Given the description of an element on the screen output the (x, y) to click on. 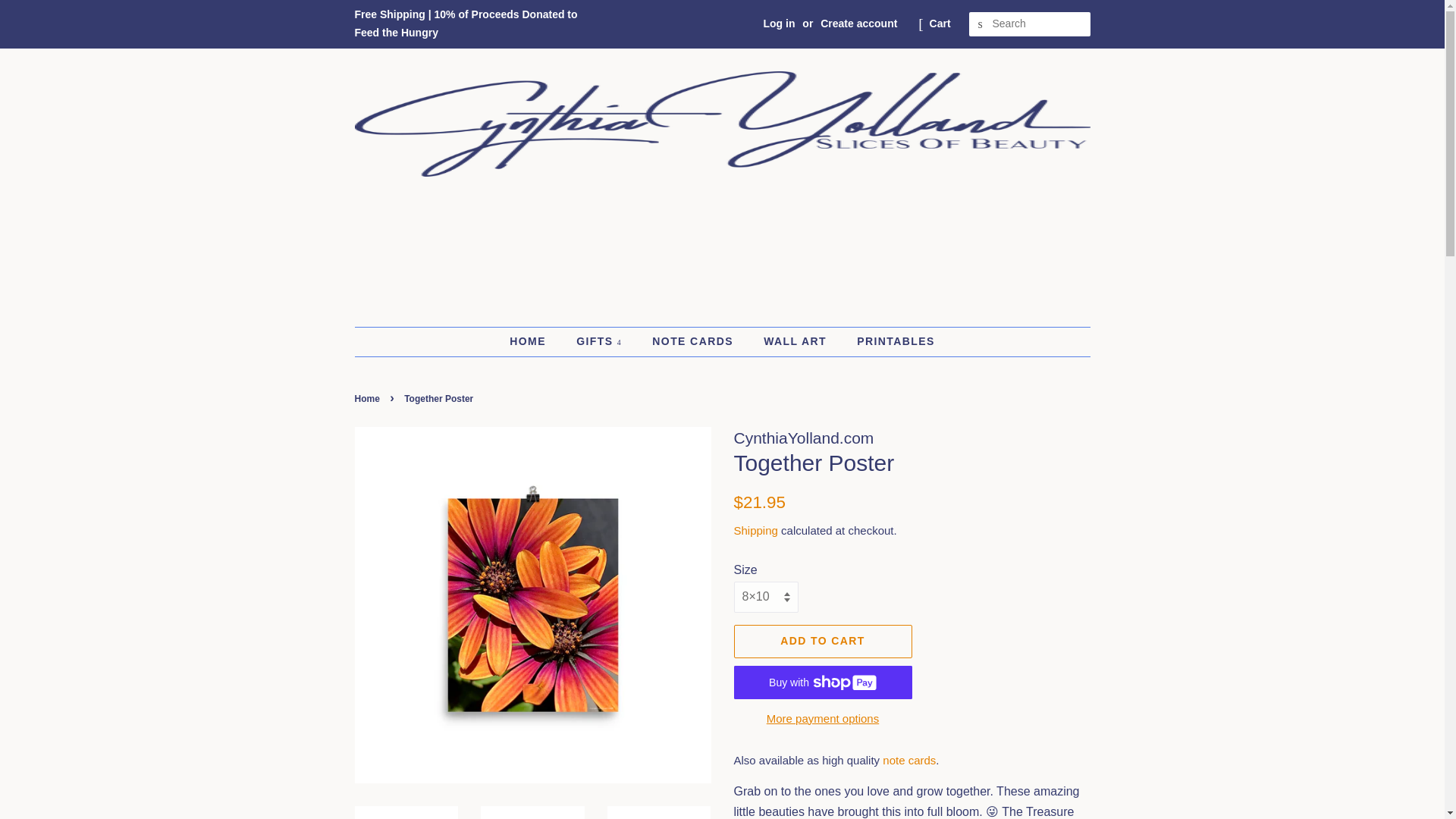
SEARCH (980, 24)
Create account (858, 23)
WALL ART (796, 341)
Log in (778, 23)
Back to the frontpage (369, 398)
Cart (940, 24)
Together Note Cards (909, 759)
NOTE CARDS (694, 341)
GIFTS (600, 341)
Shipping (755, 530)
Home (369, 398)
HOME (534, 341)
PRINTABLES (889, 341)
note cards (909, 759)
More payment options (822, 717)
